Given the description of an element on the screen output the (x, y) to click on. 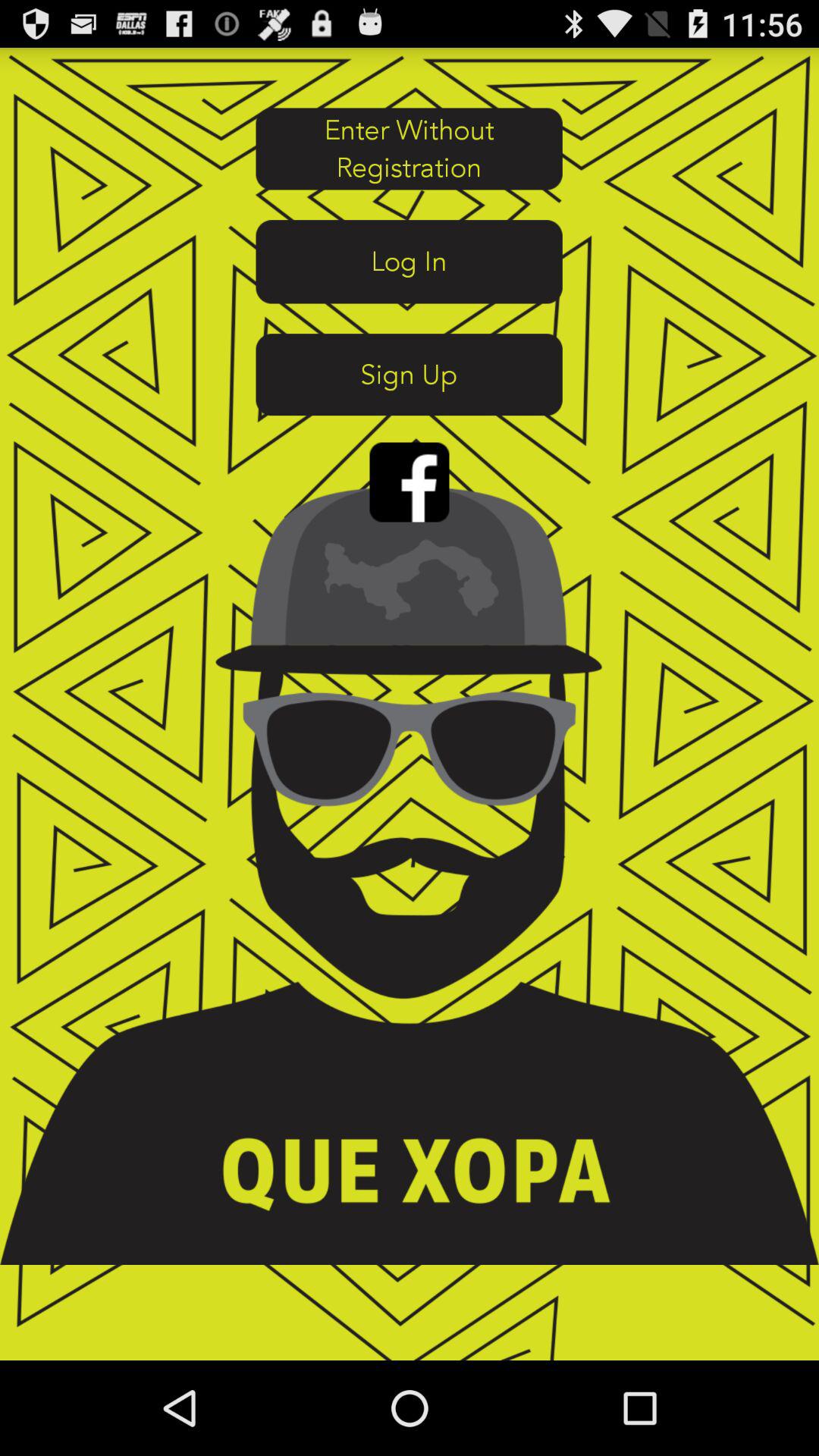
facebook (409, 482)
